Given the description of an element on the screen output the (x, y) to click on. 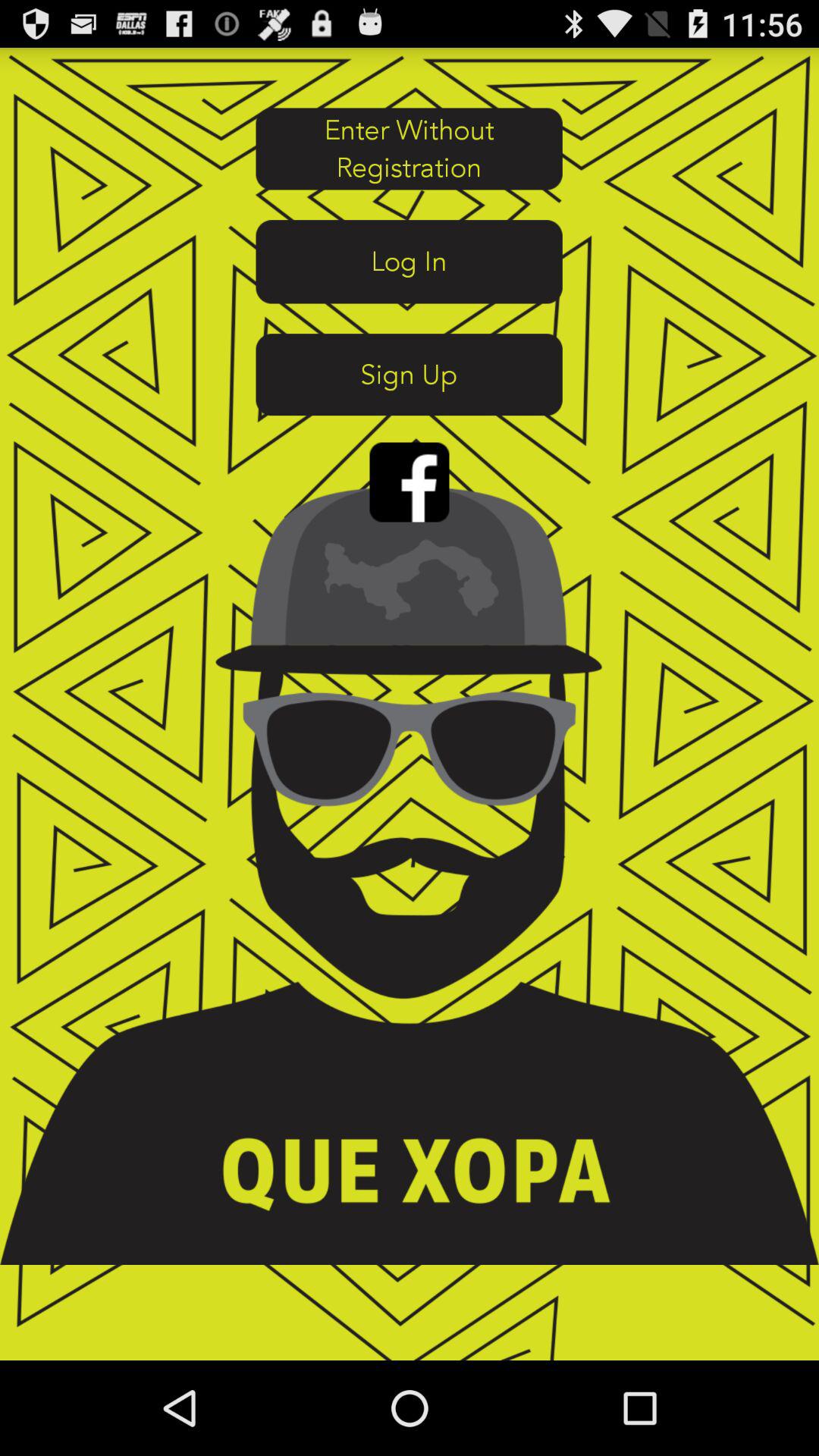
facebook (409, 482)
